Given the description of an element on the screen output the (x, y) to click on. 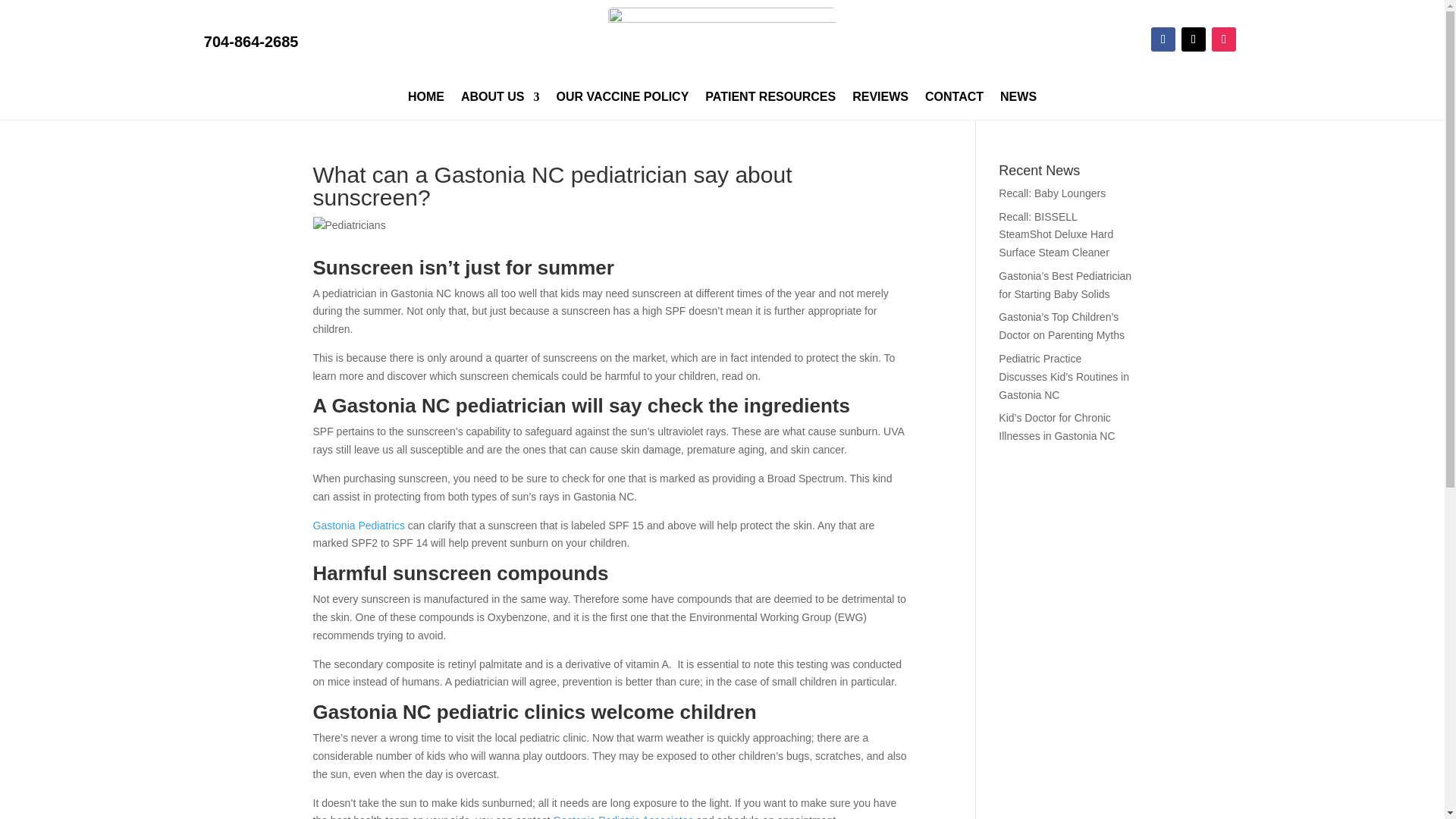
Follow on Instagram (1223, 39)
gastonia ped logo (721, 42)
704-864-2685 (250, 41)
Gastonia Pediatrics (358, 525)
Follow on X (1192, 39)
PATIENT RESOURCES (769, 99)
Recall: Baby Loungers (1051, 193)
Gastonia Pediatric Associates (623, 816)
NEWS (1018, 99)
Follow on Facebook (1162, 39)
OUR VACCINE POLICY (622, 99)
CONTACT (954, 99)
Recall: BISSELL SteamShot Deluxe Hard Surface Steam Cleaner (1055, 234)
ABOUT US (500, 99)
HOME (425, 99)
